Given the description of an element on the screen output the (x, y) to click on. 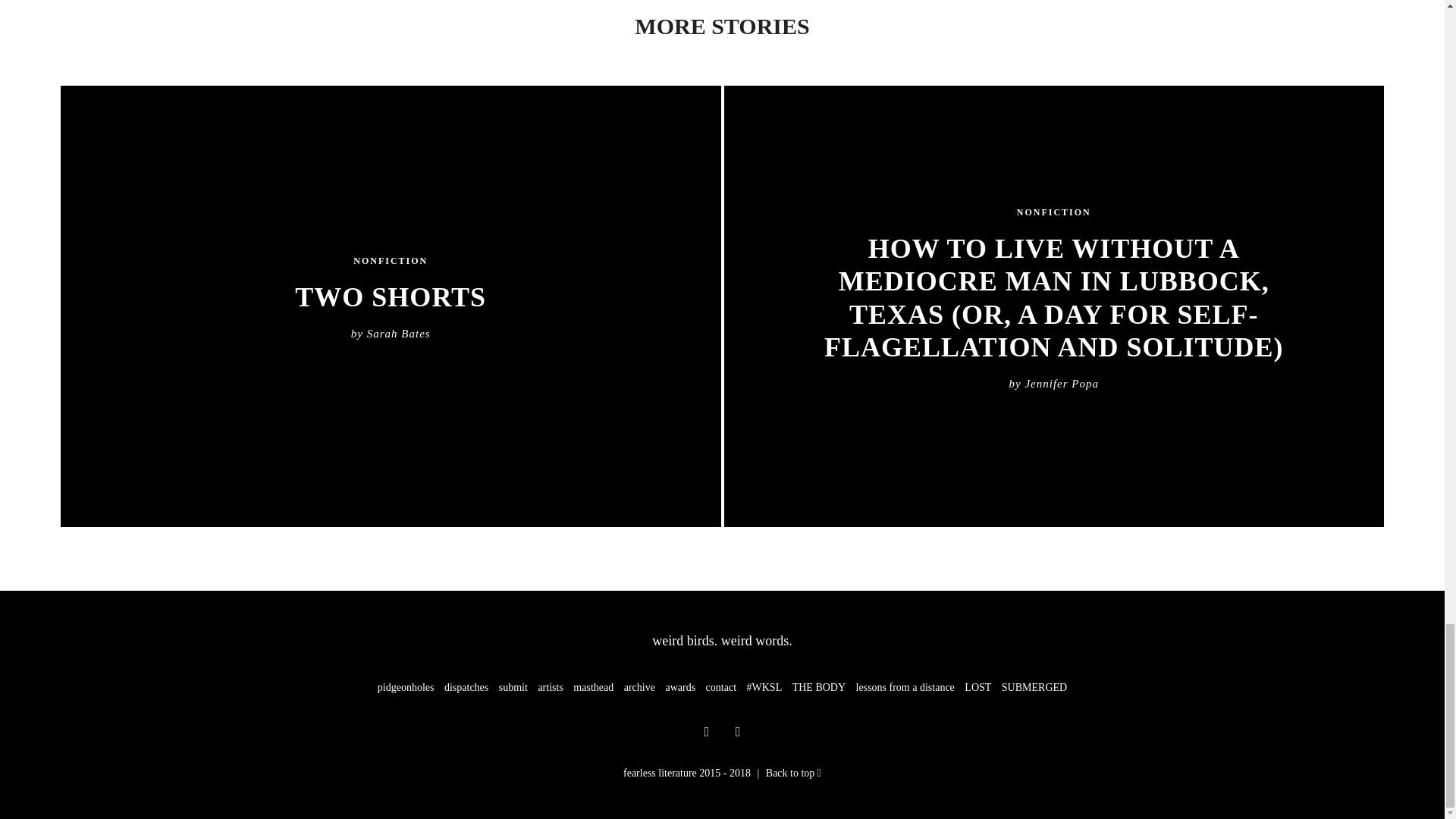
View all posts in nonfiction (1053, 213)
submit (513, 686)
artists (549, 686)
pidgeonholes (405, 686)
dispatches (465, 686)
NONFICTION (390, 262)
NONFICTION (1053, 213)
View all posts in nonfiction (390, 262)
TWO SHORTS (390, 297)
